Given the description of an element on the screen output the (x, y) to click on. 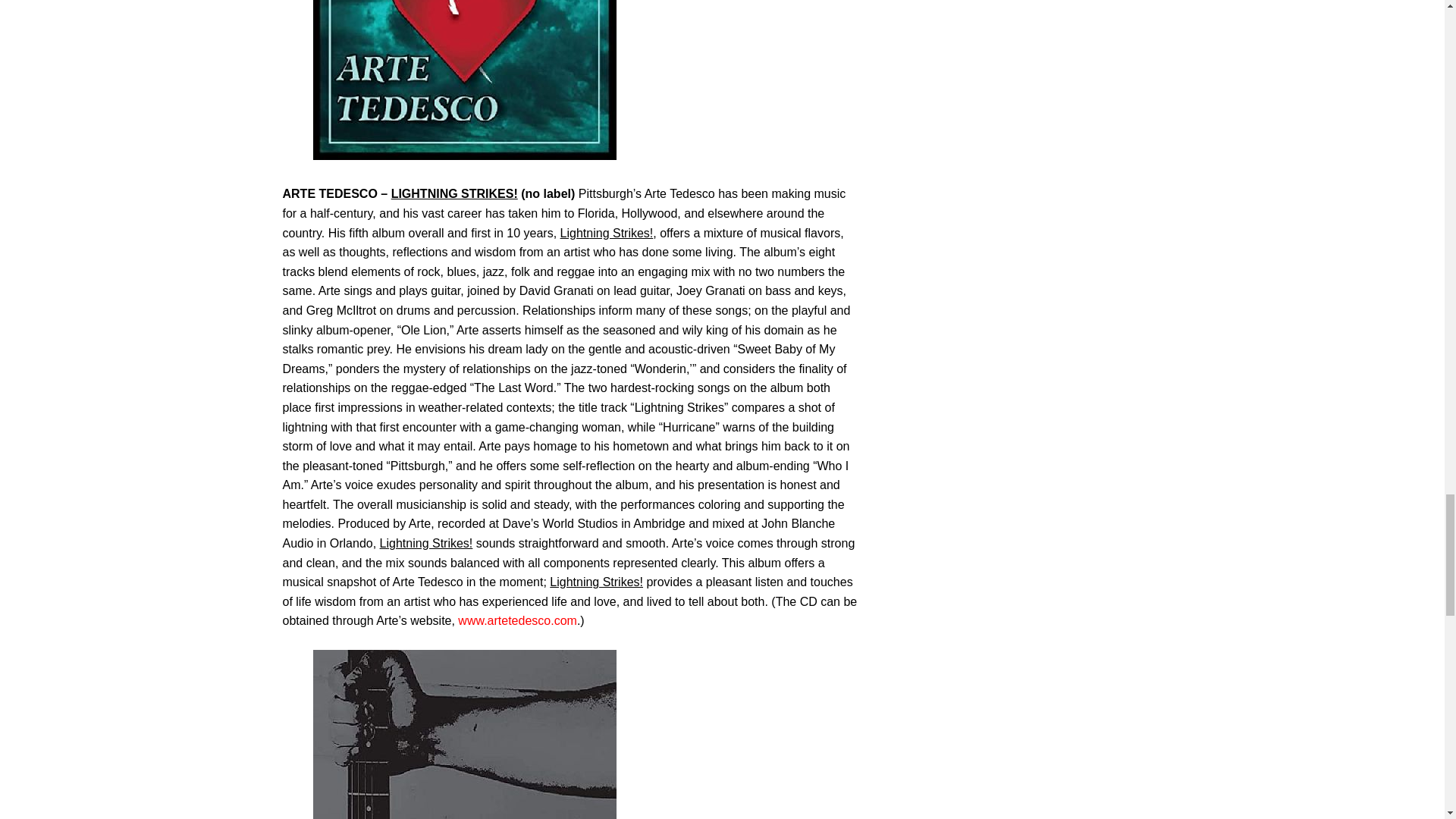
www.artetedesco.com (517, 620)
